Given the description of an element on the screen output the (x, y) to click on. 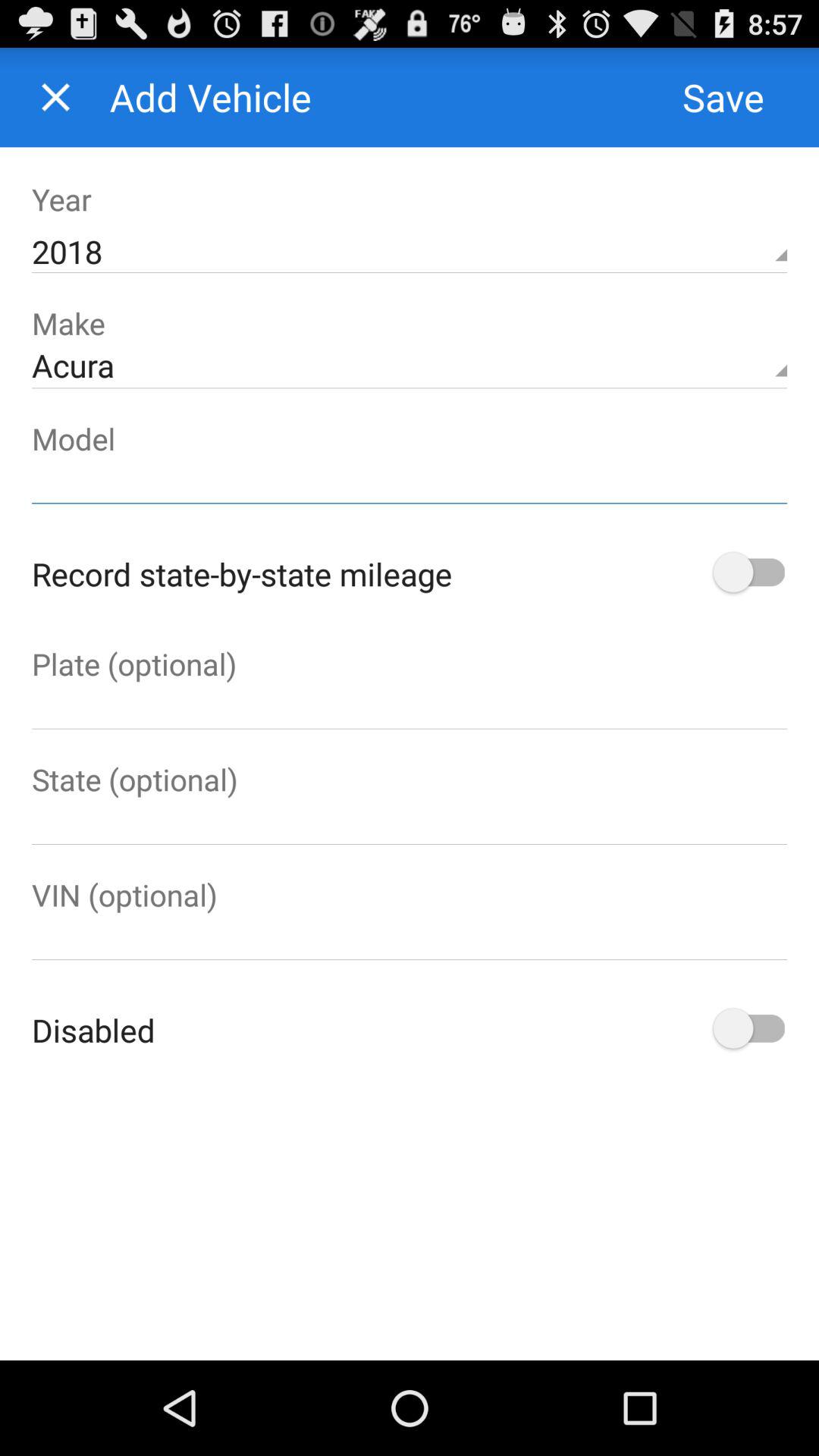
optional field for entering vehicle vin (409, 937)
